Given the description of an element on the screen output the (x, y) to click on. 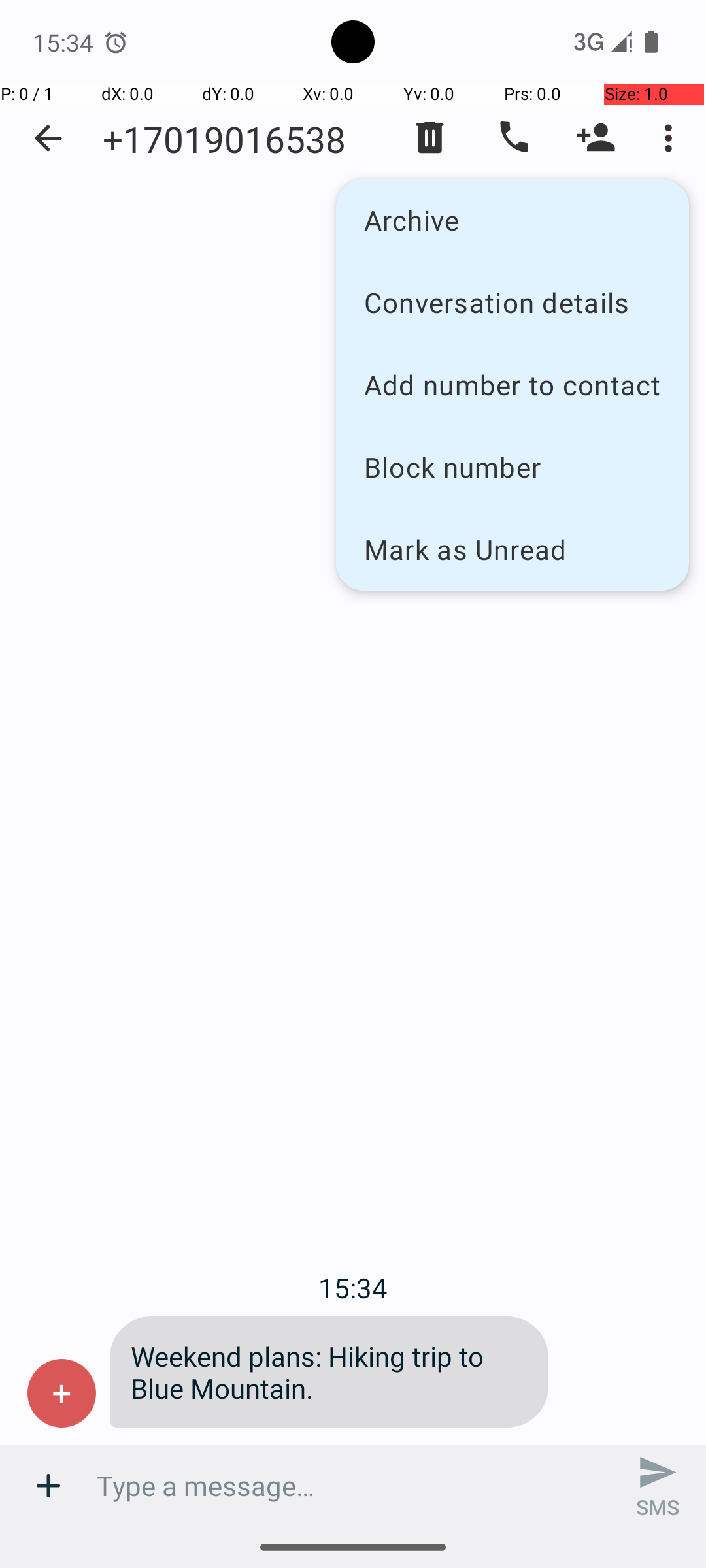
Archive Element type: android.widget.TextView (512, 219)
Conversation details Element type: android.widget.TextView (512, 301)
Add number to contact Element type: android.widget.TextView (512, 384)
Block number Element type: android.widget.TextView (512, 466)
Mark as Unread Element type: android.widget.TextView (512, 548)
